Given the description of an element on the screen output the (x, y) to click on. 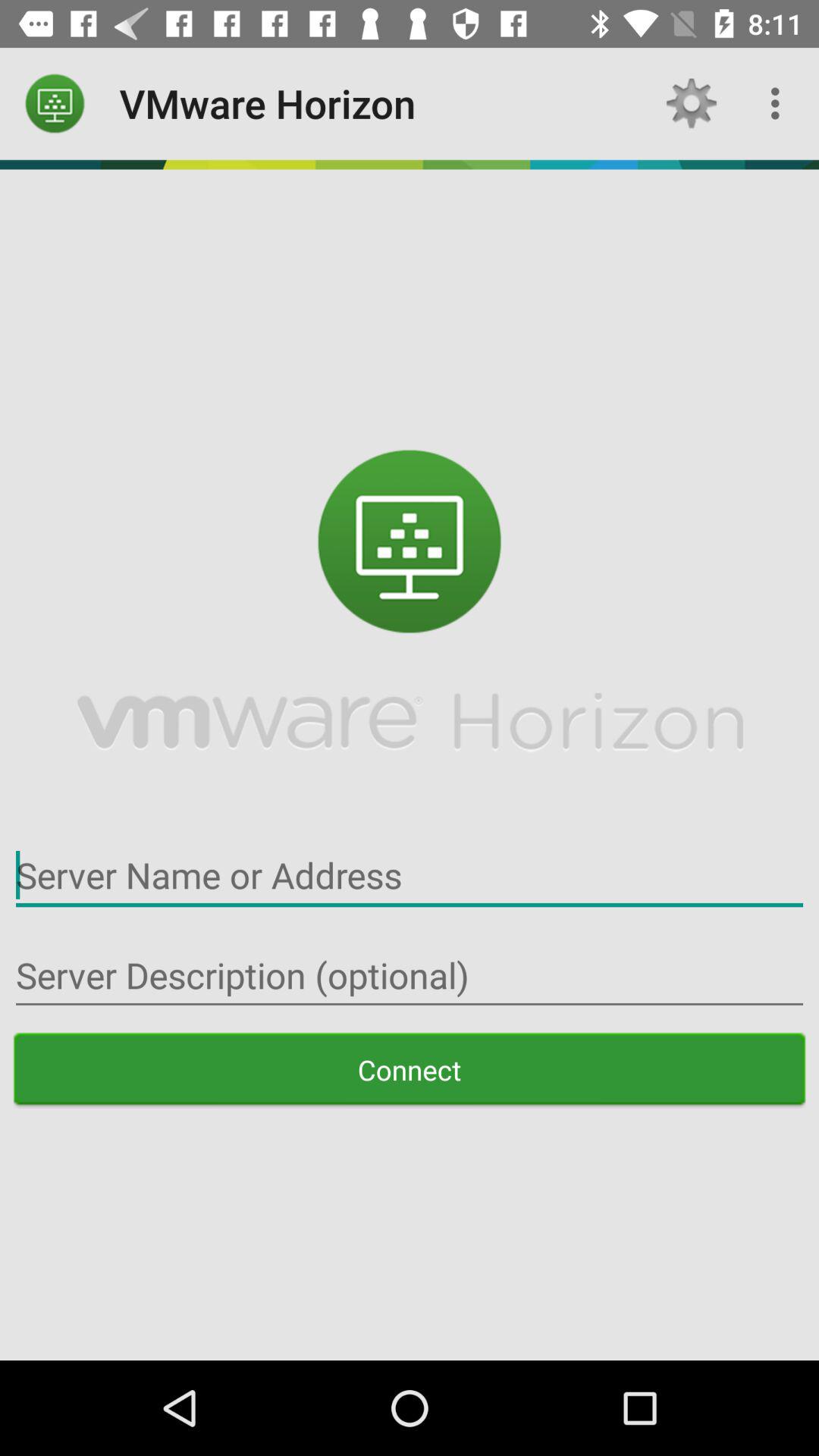
select icon next to vmware horizon item (55, 103)
